Given the description of an element on the screen output the (x, y) to click on. 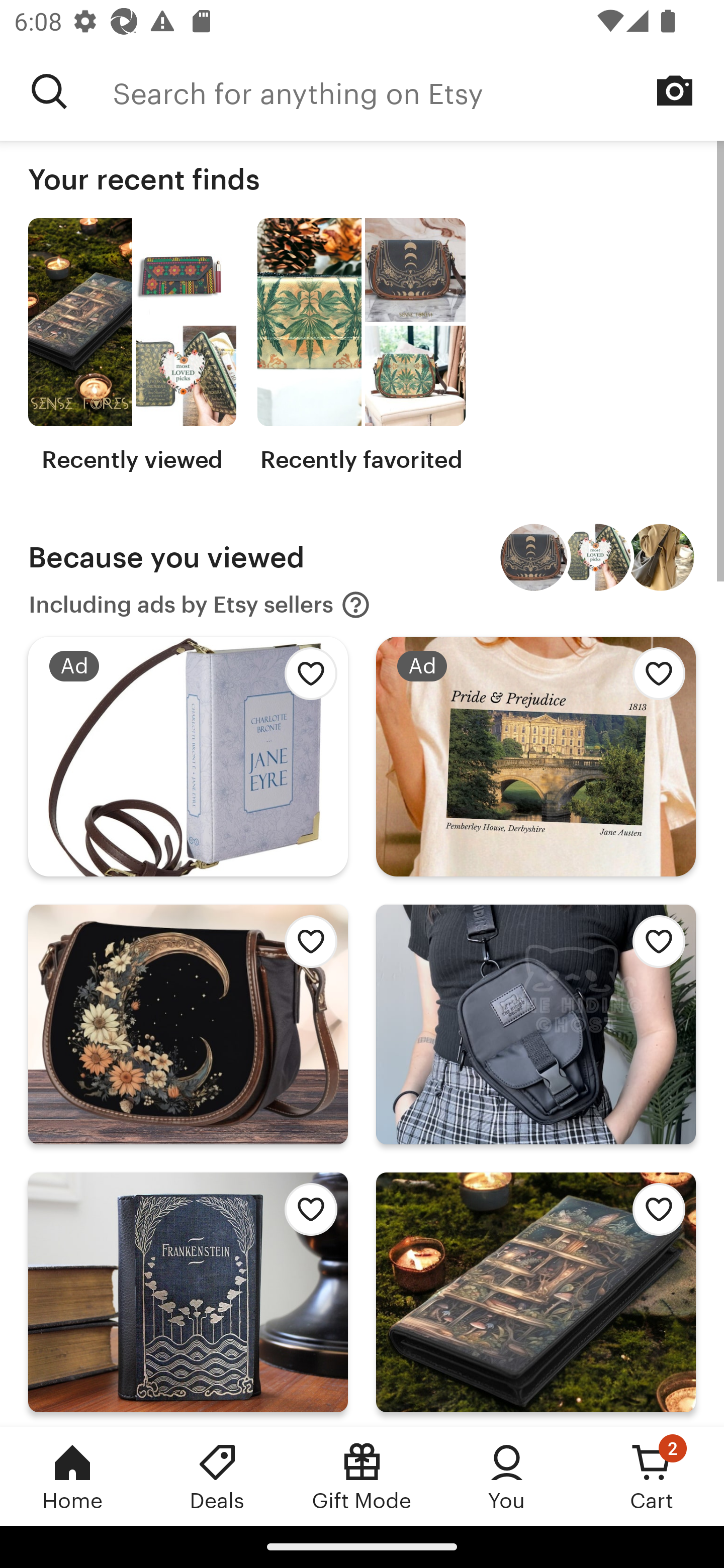
Search for anything on Etsy (49, 91)
Search by image (674, 90)
Search for anything on Etsy (418, 91)
Recently viewed (132, 345)
Recently favorited (361, 345)
Including ads by Etsy sellers (199, 604)
Deals (216, 1475)
Gift Mode (361, 1475)
You (506, 1475)
Cart, 2 new notifications Cart (651, 1475)
